Given the description of an element on the screen output the (x, y) to click on. 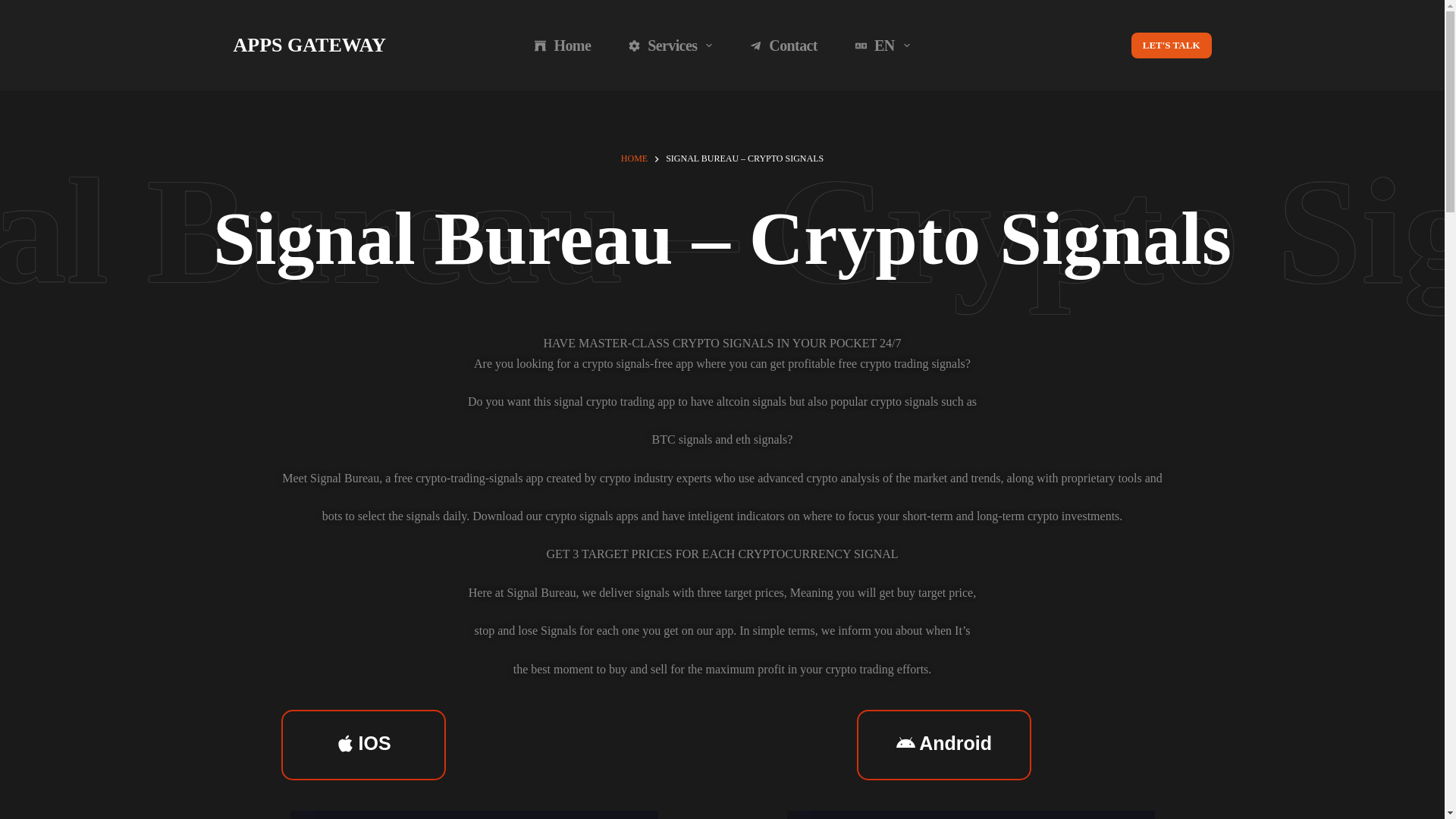
Skip to content (15, 7)
GateCarts (768, 780)
Home (562, 45)
EN (881, 45)
Services (670, 45)
Contact (782, 45)
LET'S TALK (1171, 45)
APPS GATEWAY (309, 45)
Android (943, 745)
IOS (363, 745)
